Given the description of an element on the screen output the (x, y) to click on. 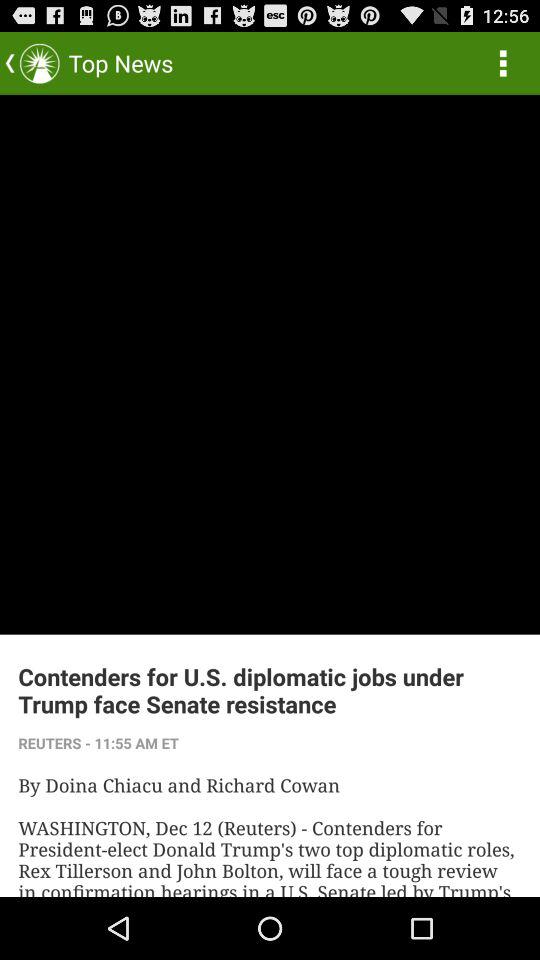
turn off the item at the top right corner (503, 62)
